Given the description of an element on the screen output the (x, y) to click on. 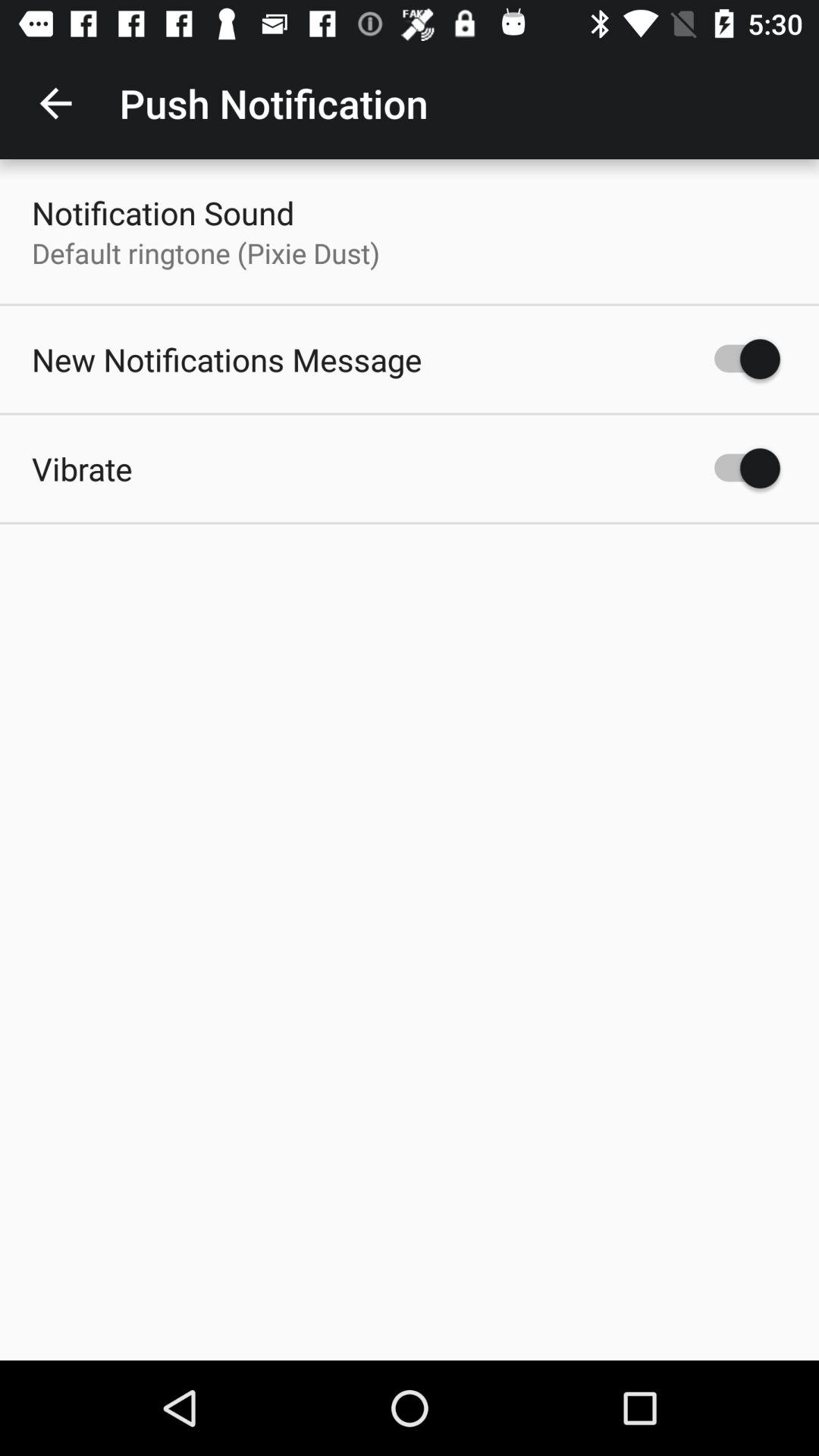
turn on new notifications message icon (226, 359)
